Given the description of an element on the screen output the (x, y) to click on. 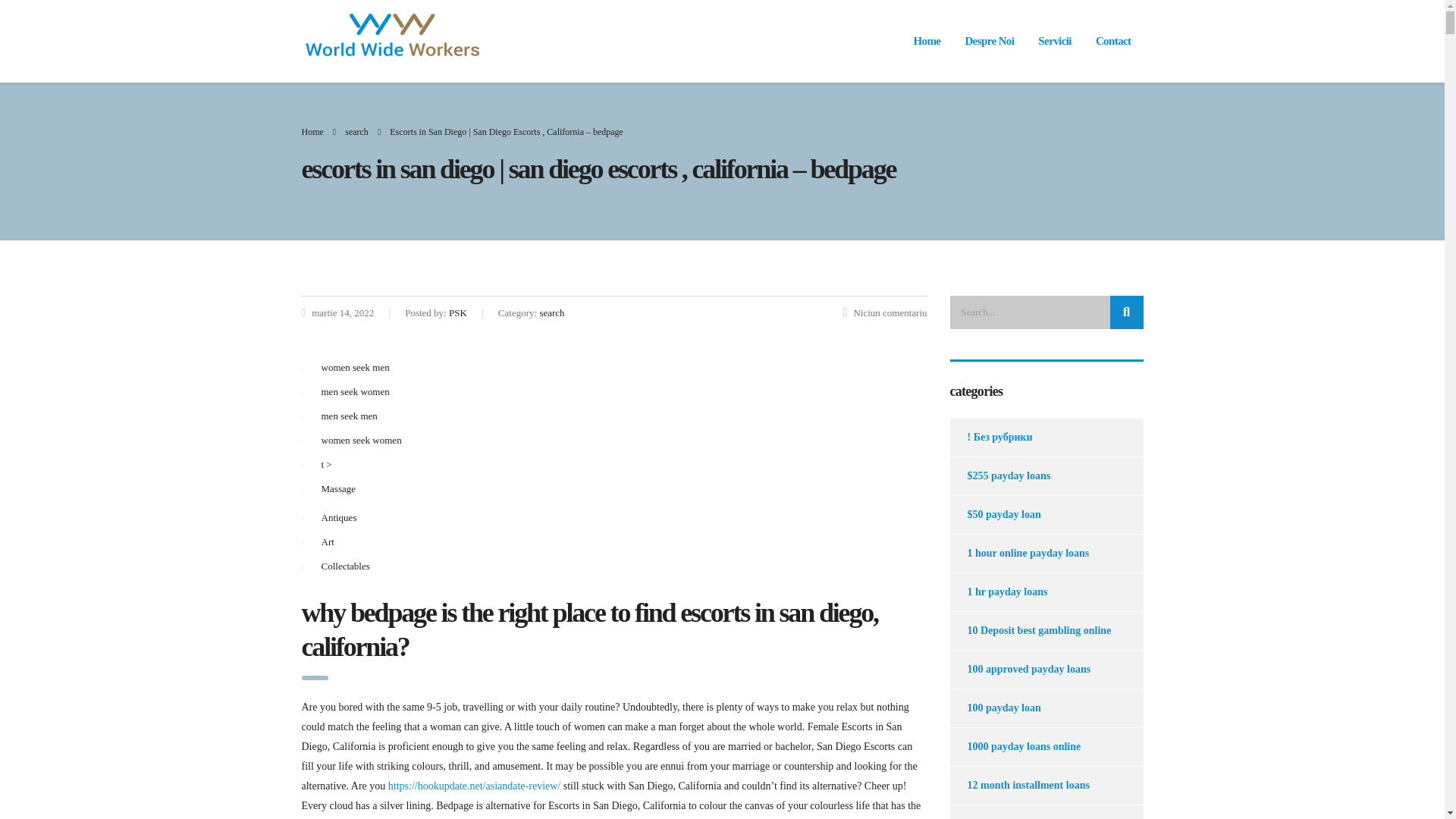
Go to World Wide Work Company. (312, 131)
search (356, 131)
1000 payday loans online (1014, 746)
1 hr payday loans (997, 591)
1 hour online payday loans (1019, 553)
10 Deposit best gambling online (1029, 630)
Contact (1112, 41)
Despre Noi (989, 41)
100 payday loan (995, 708)
12 month installment loans (1019, 785)
100 approved payday loans (1019, 669)
Servicii (1054, 41)
Home (312, 131)
Home (926, 41)
Go to the search category archives. (356, 131)
